Given the description of an element on the screen output the (x, y) to click on. 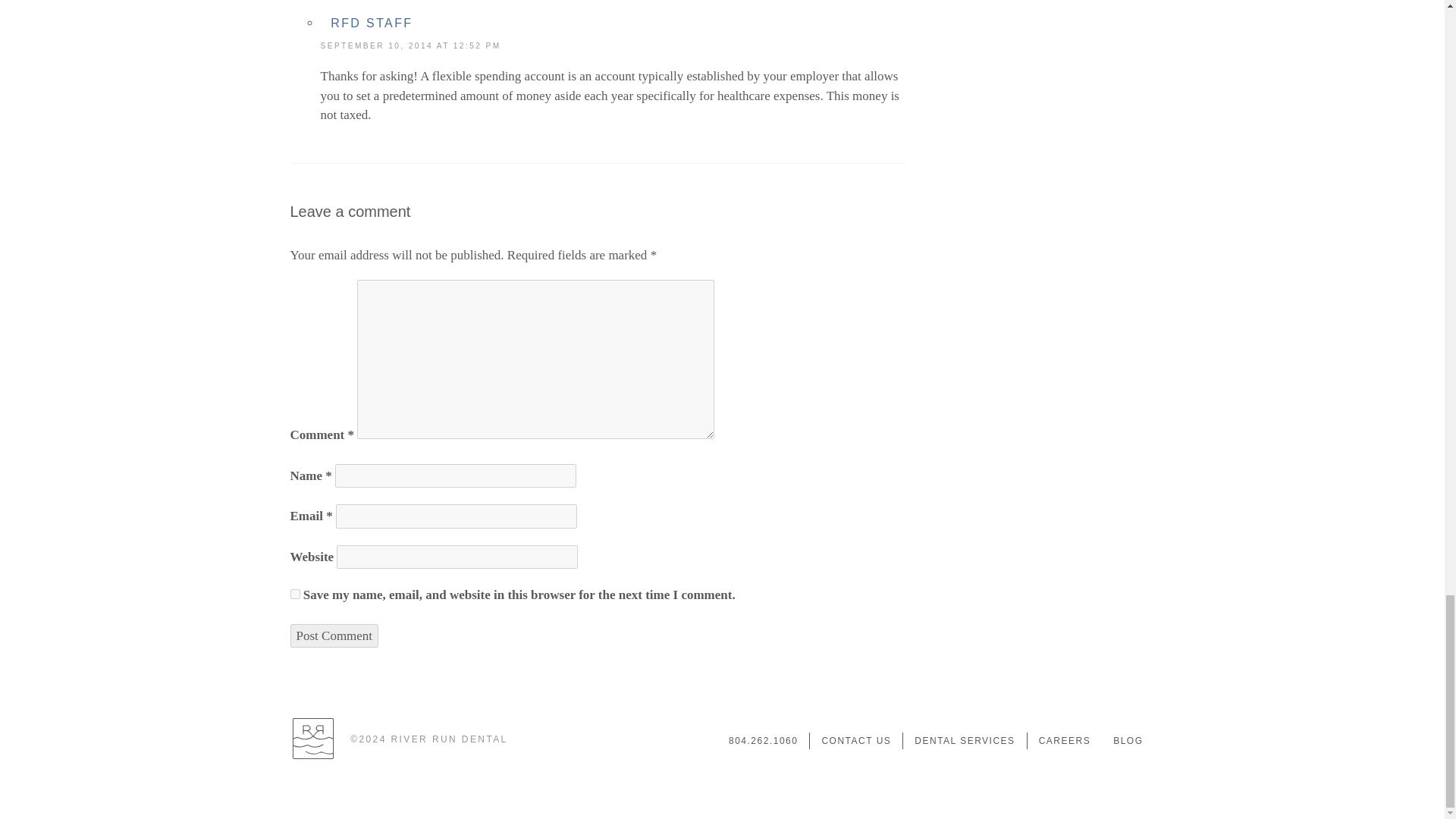
Post Comment (333, 636)
yes (294, 593)
